Given the description of an element on the screen output the (x, y) to click on. 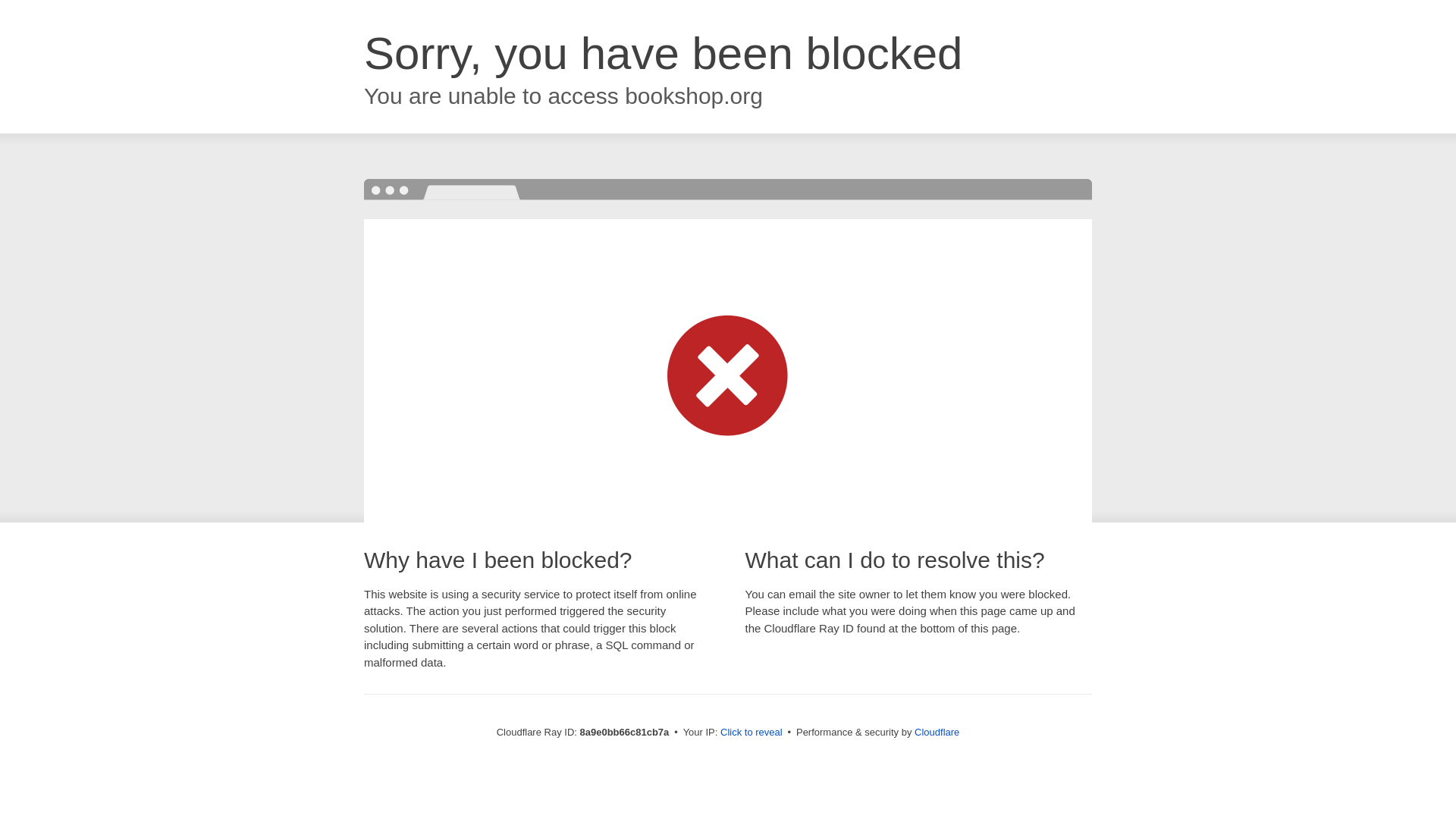
Cloudflare (936, 731)
Click to reveal (751, 732)
